Given the description of an element on the screen output the (x, y) to click on. 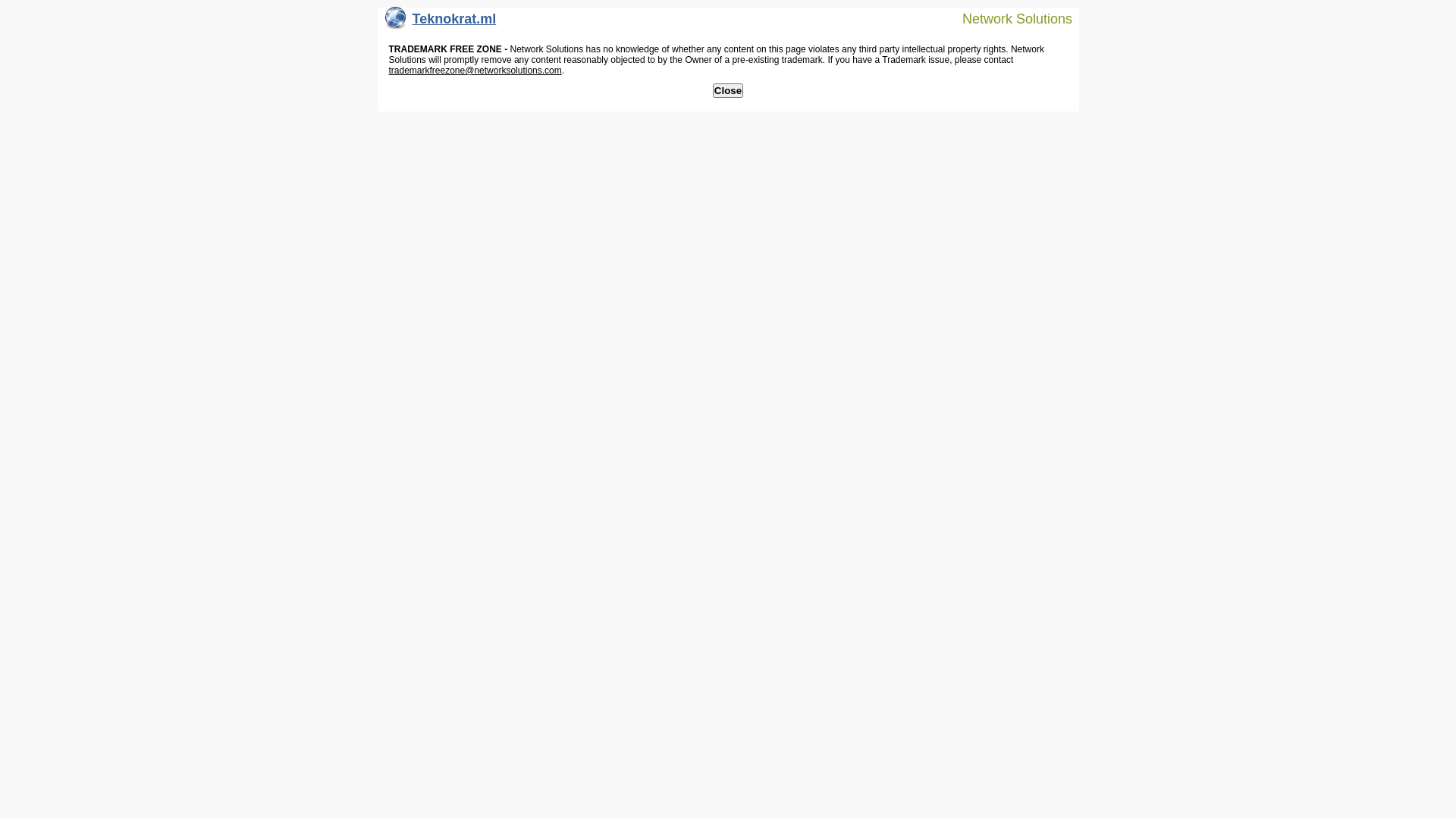
Teknokrat.ml Element type: text (440, 21)
Close Element type: text (727, 90)
Network Solutions Element type: text (1007, 17)
trademarkfreezone@networksolutions.com Element type: text (474, 70)
